Given the description of an element on the screen output the (x, y) to click on. 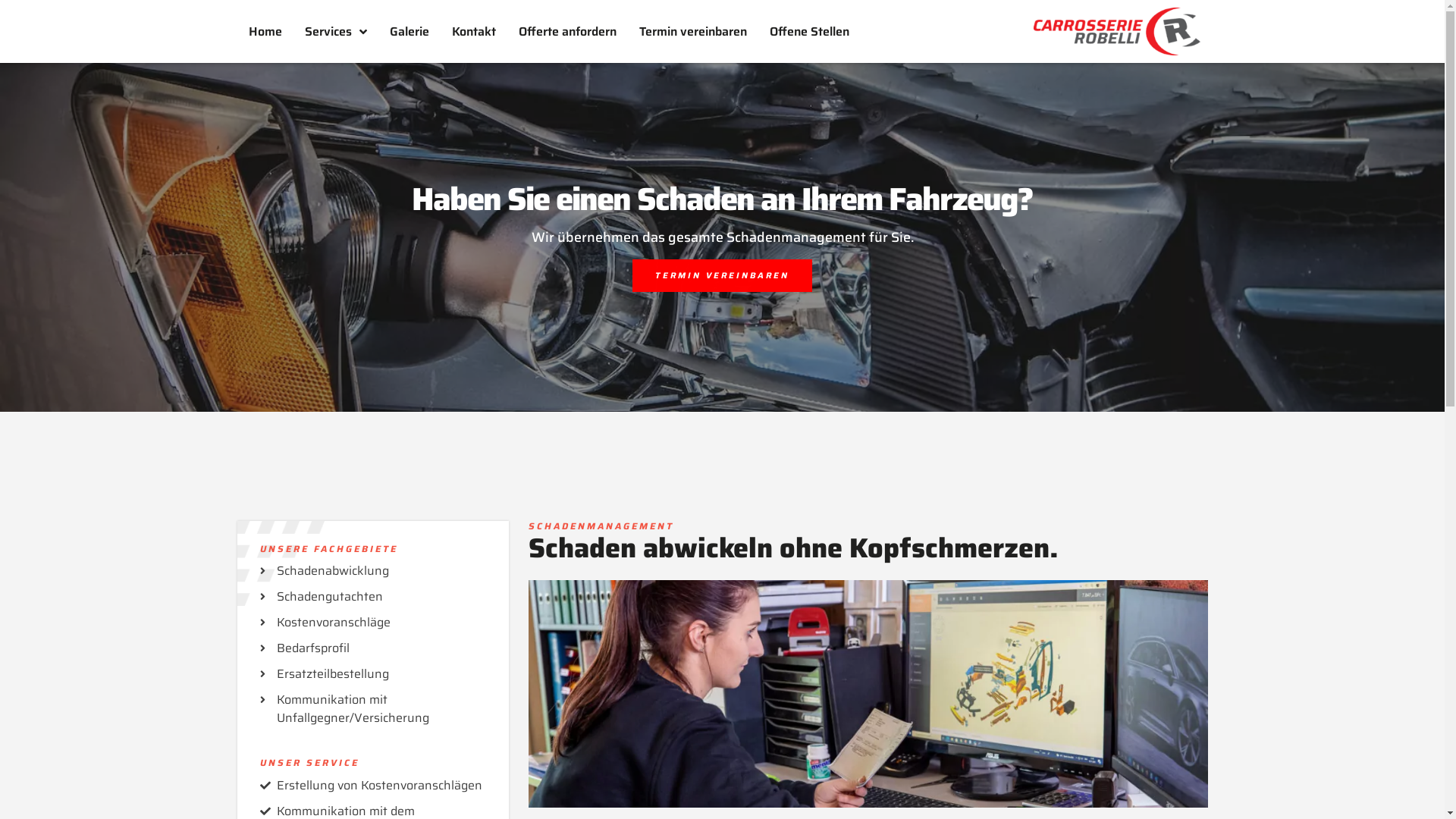
Galerie Element type: text (408, 31)
Termin vereinbaren Element type: text (692, 31)
Home Element type: text (264, 31)
Offene Stellen Element type: text (809, 31)
Offerte anfordern Element type: text (566, 31)
Services Element type: text (334, 31)
Kontakt Element type: text (472, 31)
TERMIN VEREINBAREN Element type: text (722, 275)
